Given the description of an element on the screen output the (x, y) to click on. 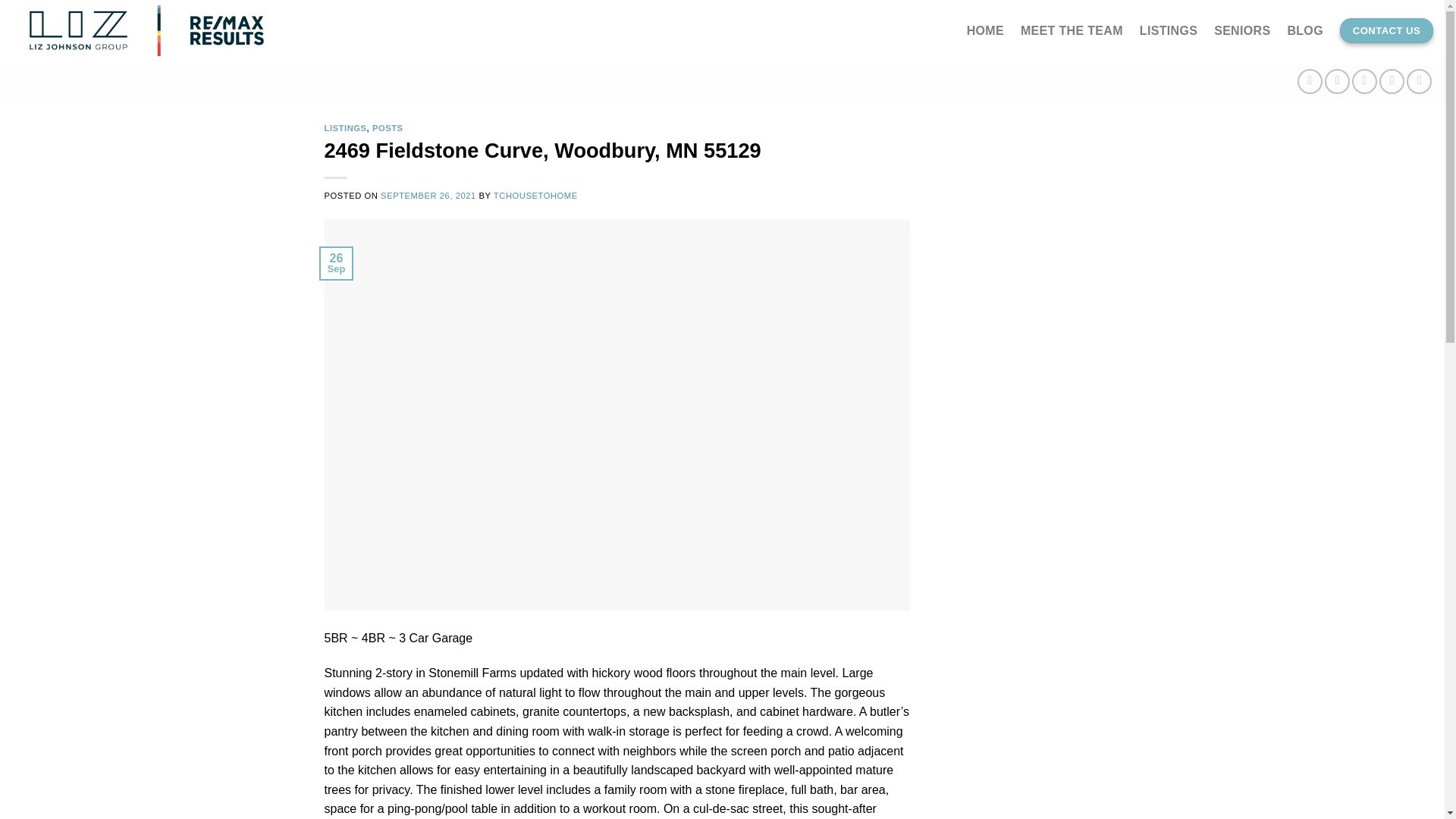
LISTINGS (1168, 30)
BLOG (1305, 30)
Follow on Pinterest (1418, 81)
Follow on Facebook (1309, 81)
LISTINGS (345, 127)
Send us an email (1391, 81)
Follow on Twitter (1364, 81)
MEET THE TEAM (1071, 30)
Follow on Instagram (1336, 81)
CONTACT US (1385, 31)
TC House To Home - Liz Johnson Your Twin Cities Realtor (180, 29)
TCHOUSETOHOME (535, 194)
SENIORS (1241, 30)
HOME (985, 30)
SEPTEMBER 26, 2021 (428, 194)
